Given the description of an element on the screen output the (x, y) to click on. 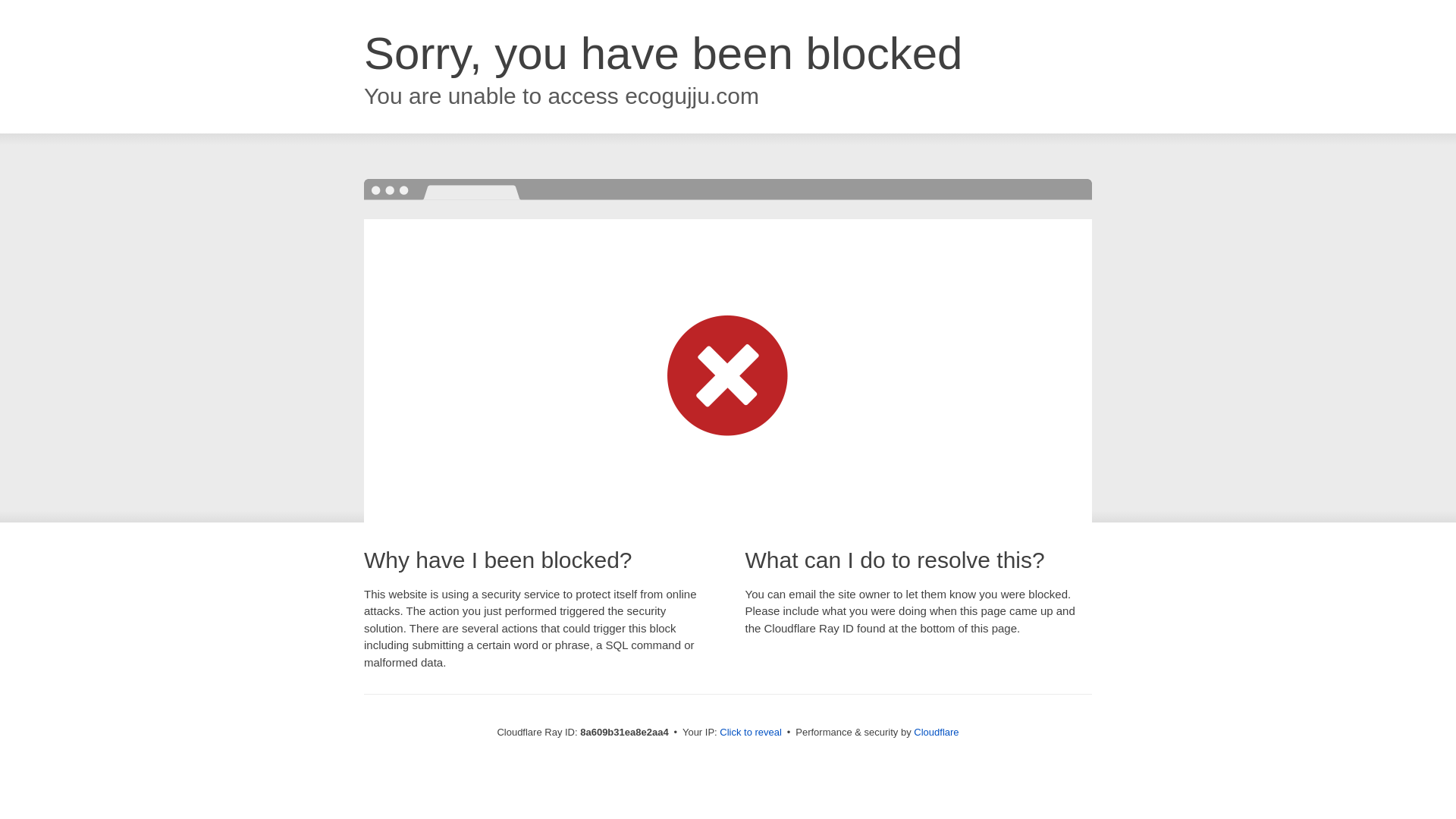
Click to reveal (750, 732)
Cloudflare (936, 731)
